Given the description of an element on the screen output the (x, y) to click on. 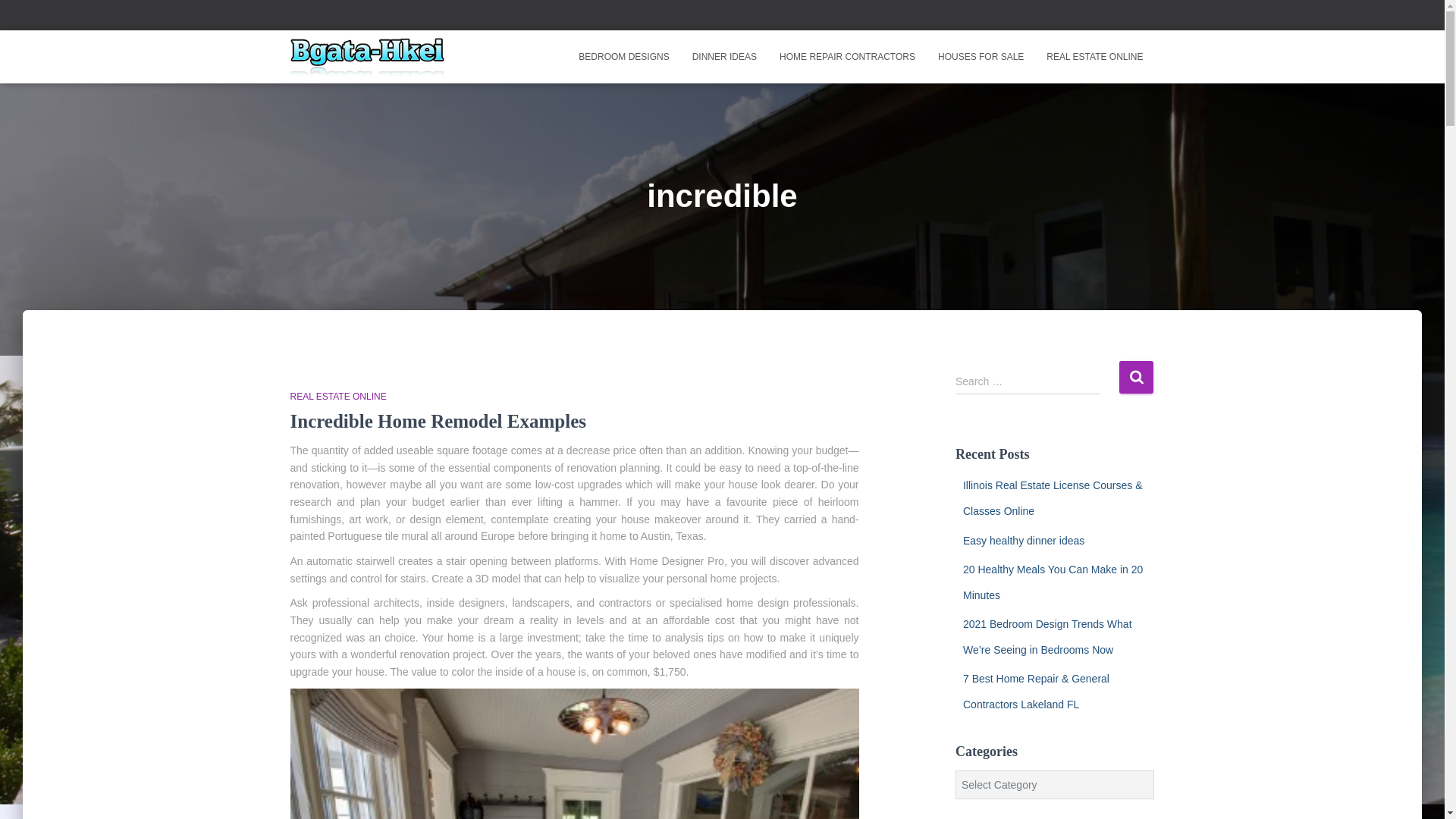
HOME REPAIR CONTRACTORS (847, 56)
View all posts in Real Estate Online (337, 396)
BEDROOM DESIGNS (623, 56)
Houses For Sale (980, 56)
Bedroom Designs (623, 56)
Home Repair Contractors (847, 56)
Search (1136, 377)
Incredible Home Remodel Examples (437, 421)
Incredible Home Remodel Examples (437, 421)
Bgata Hkei (367, 56)
Easy healthy dinner ideas (1023, 539)
DINNER IDEAS (724, 56)
HOUSES FOR SALE (980, 56)
Search (1136, 377)
REAL ESTATE ONLINE (1094, 56)
